Given the description of an element on the screen output the (x, y) to click on. 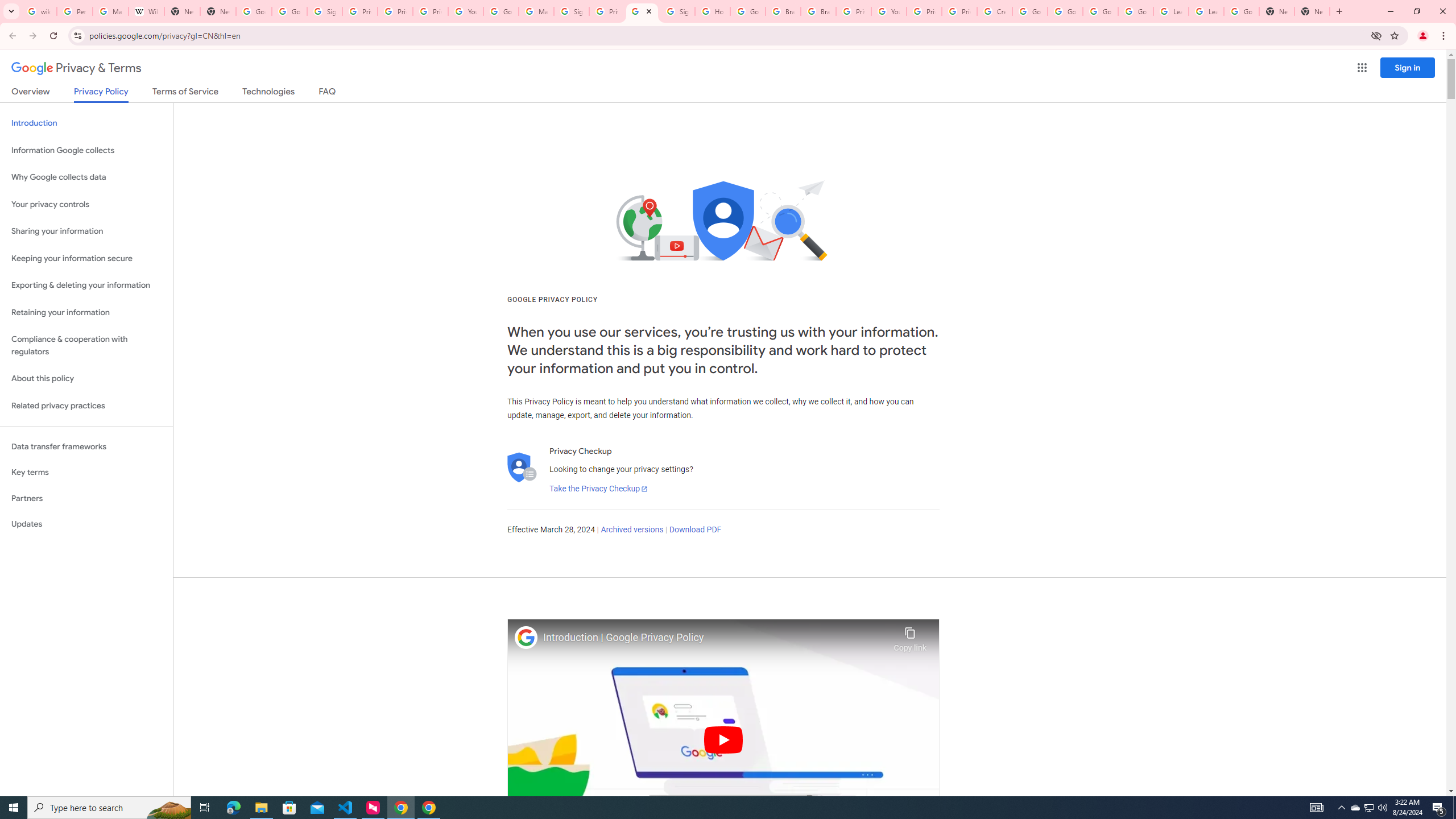
Manage your Location History - Google Search Help (110, 11)
Personalization & Google Search results - Google Search Help (74, 11)
YouTube (888, 11)
New Tab (1276, 11)
